Given the description of an element on the screen output the (x, y) to click on. 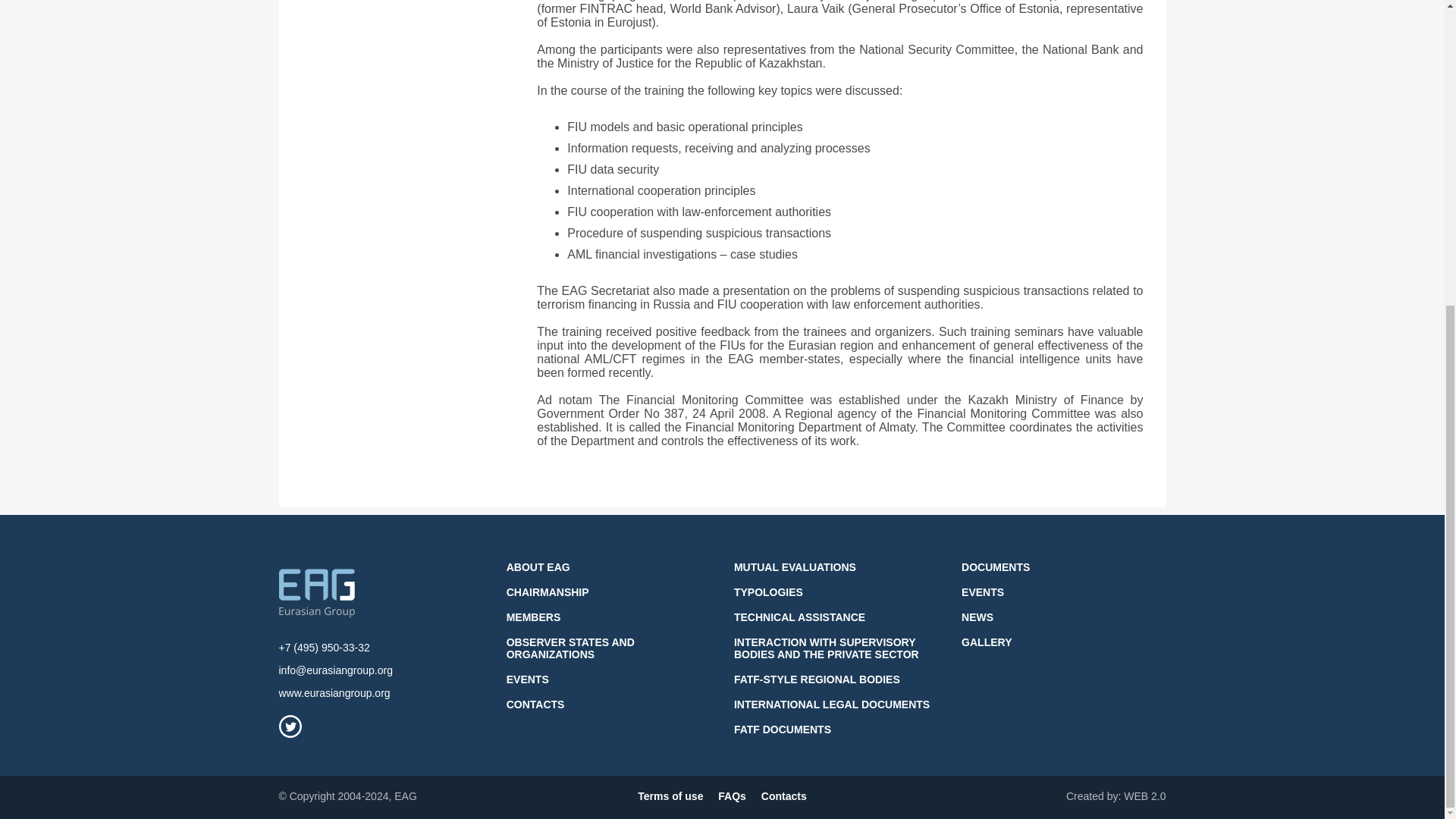
www.eurasiangroup.org (334, 693)
